Given the description of an element on the screen output the (x, y) to click on. 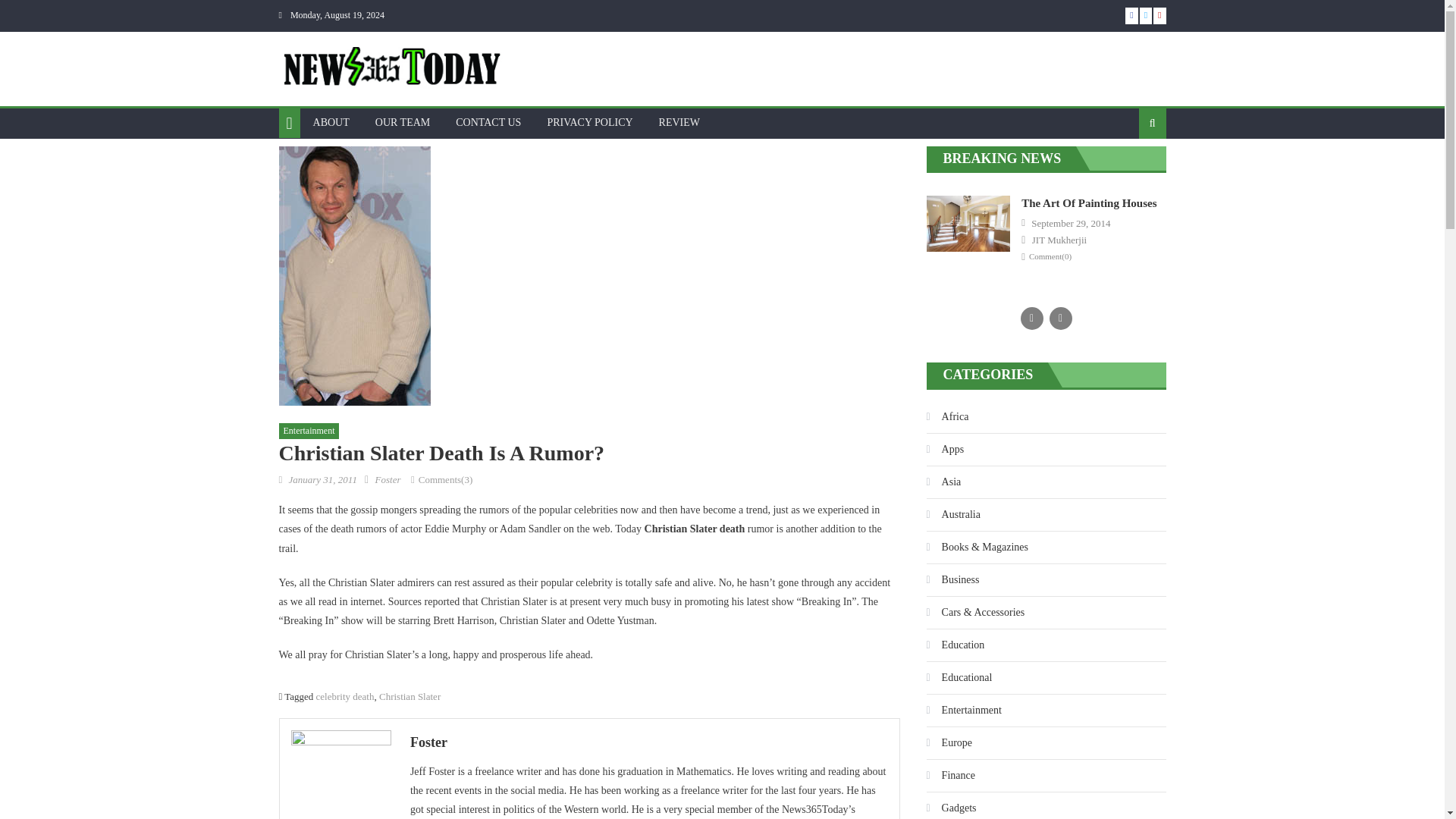
January 31, 2011 (322, 479)
celebrity death (344, 696)
ABOUT (331, 122)
Christian Slater (409, 696)
PRIVACY POLICY (589, 122)
Skip to content (32, 9)
CONTACT US (488, 122)
Foster (649, 742)
Search (1128, 171)
The Art Of Painting Houses (1089, 203)
